Given the description of an element on the screen output the (x, y) to click on. 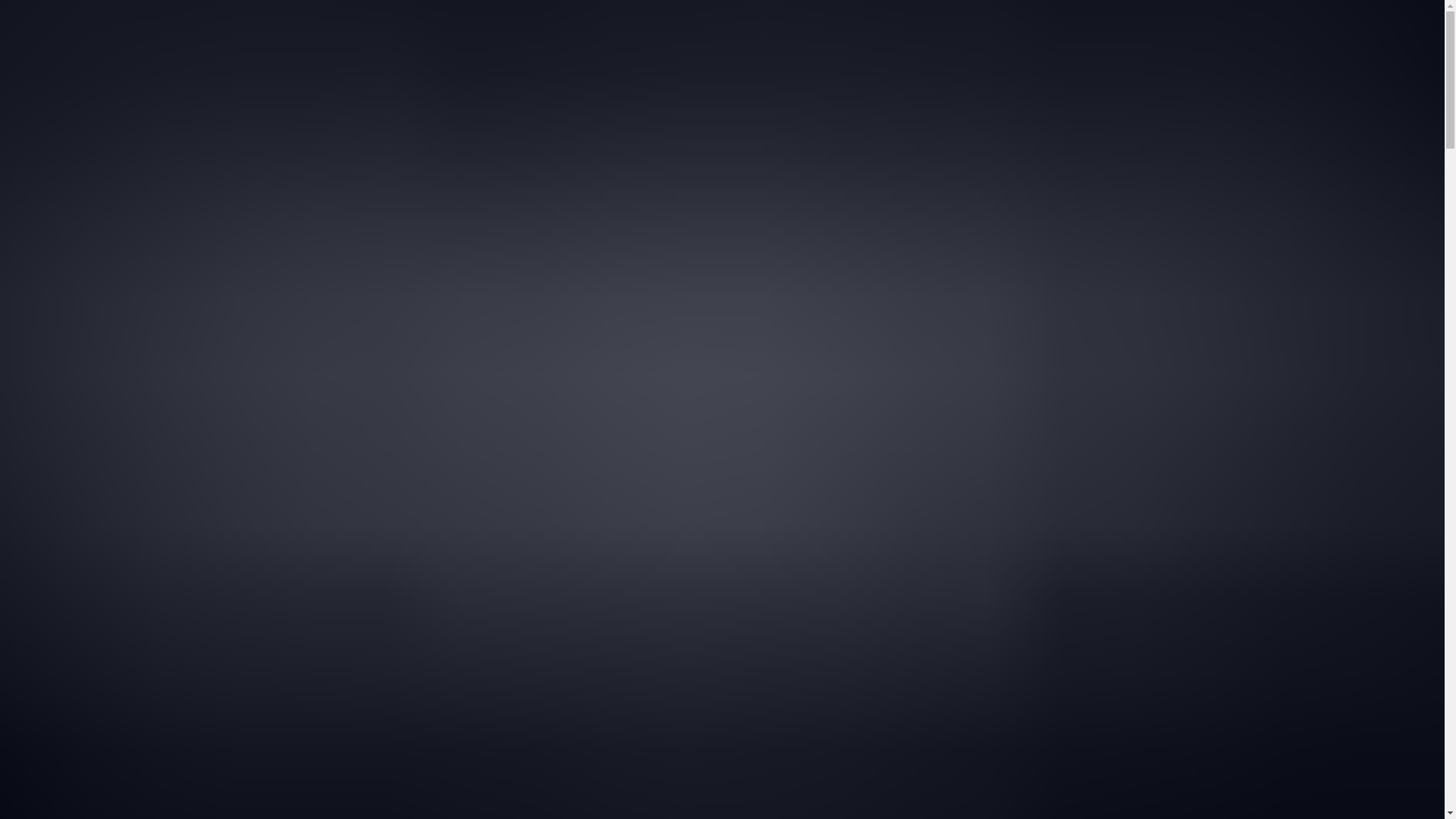
EHR stands for Electronic Health Record (574, 628)
